Given the description of an element on the screen output the (x, y) to click on. 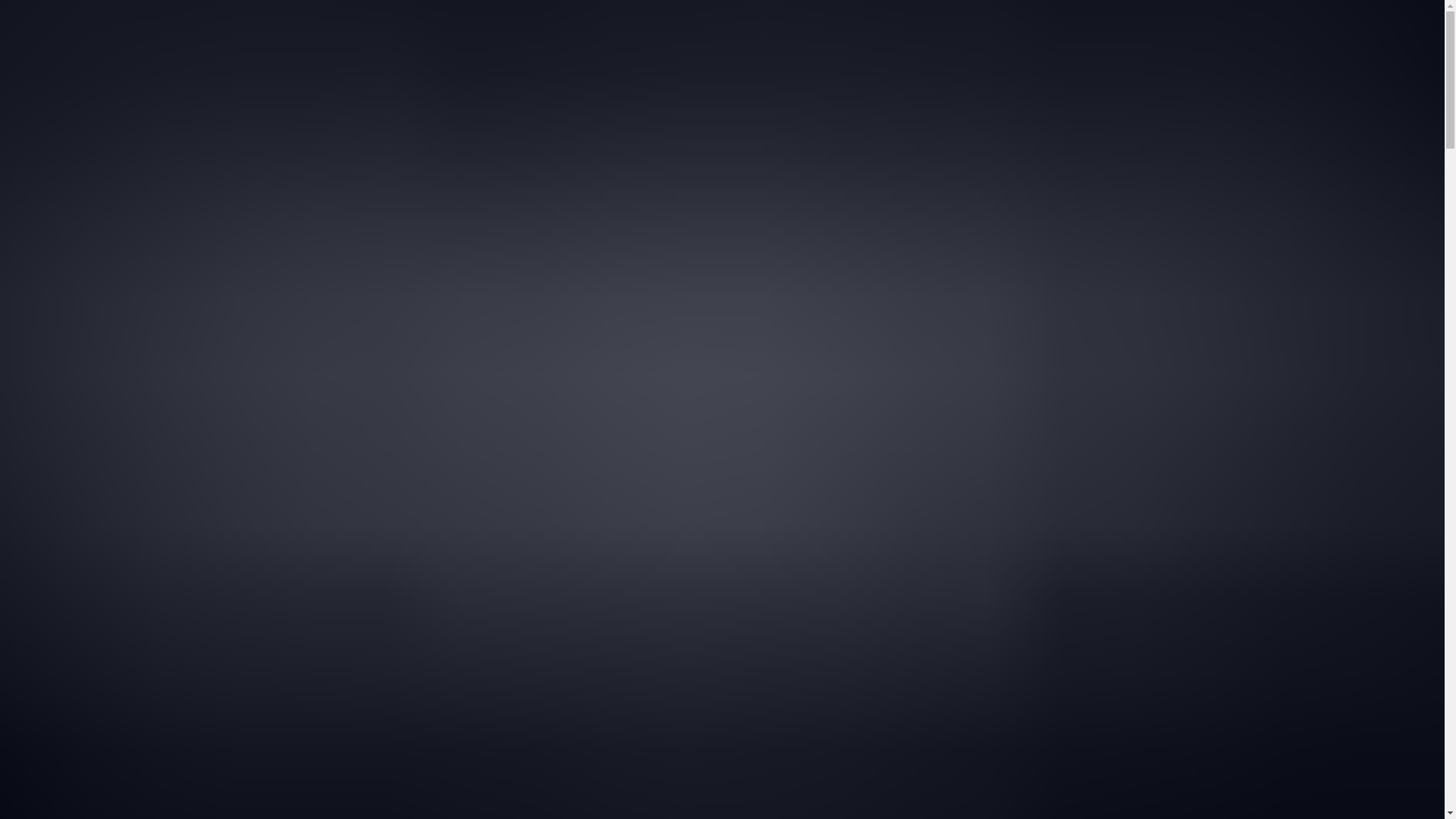
EHR stands for Electronic Health Record (574, 628)
